Given the description of an element on the screen output the (x, y) to click on. 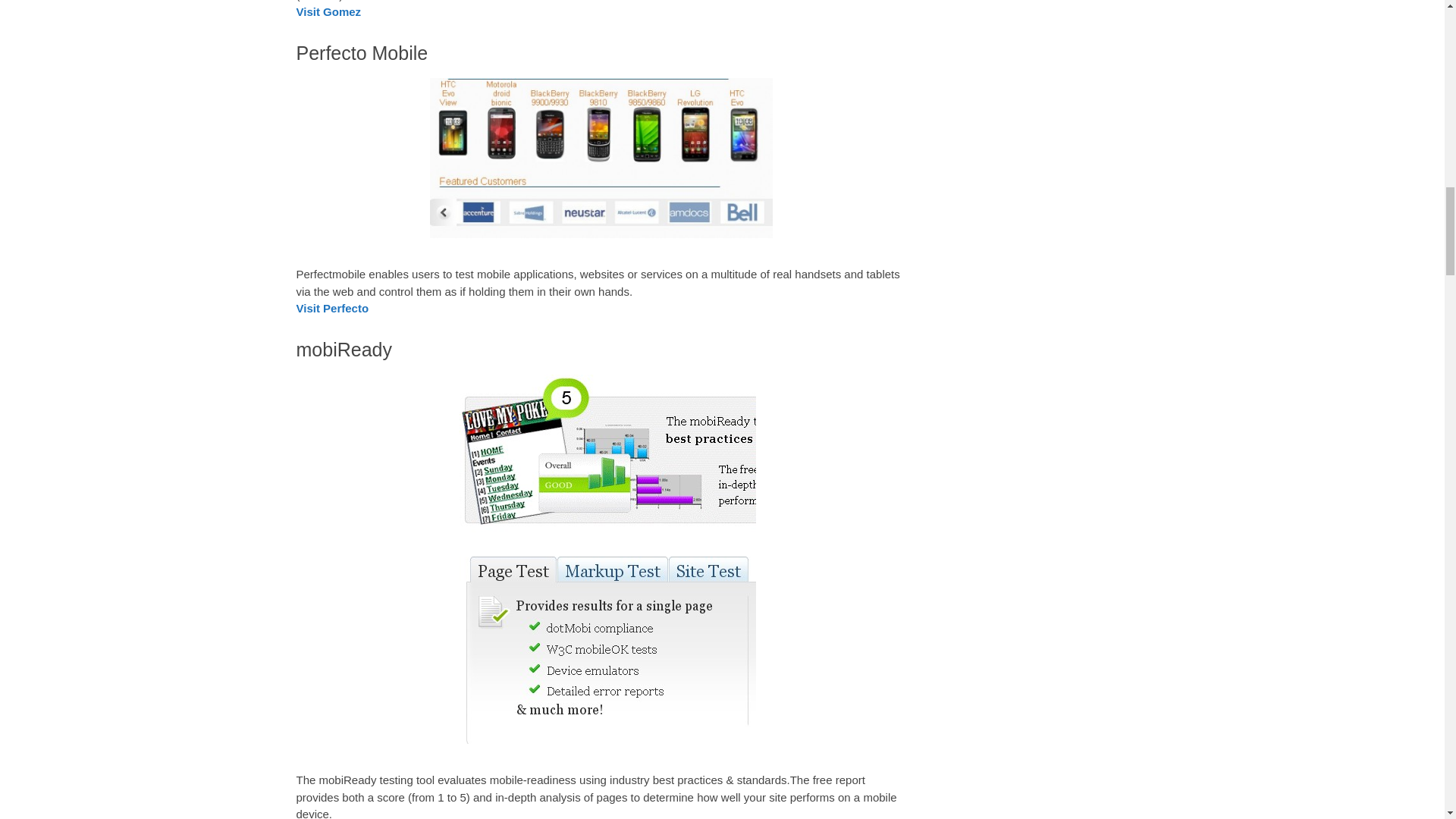
2.website mobile device testing tool (601, 157)
Visit Perfecto (331, 308)
Visit Gomez (328, 11)
